Given the description of an element on the screen output the (x, y) to click on. 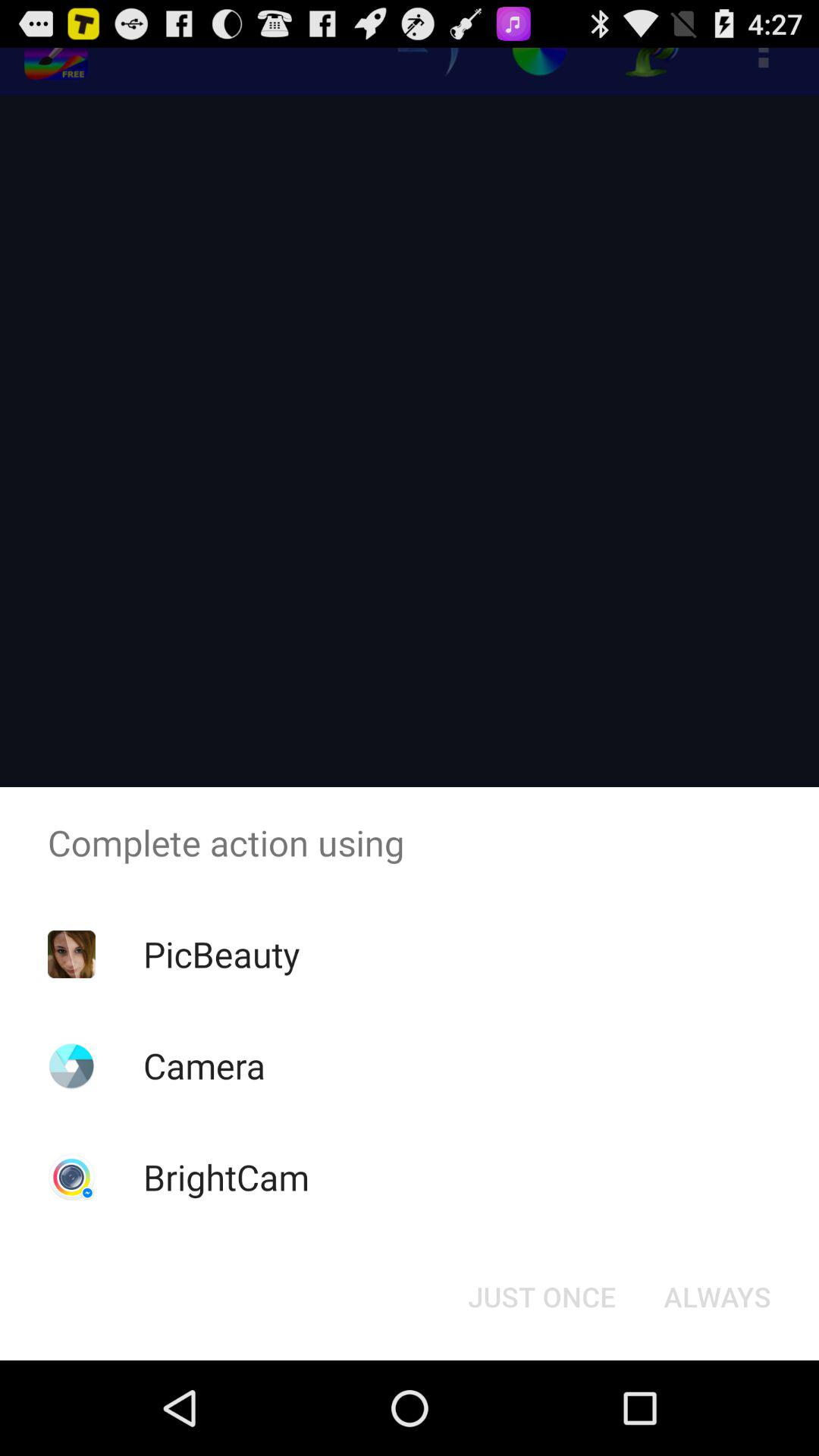
turn on app above the brightcam item (204, 1065)
